Given the description of an element on the screen output the (x, y) to click on. 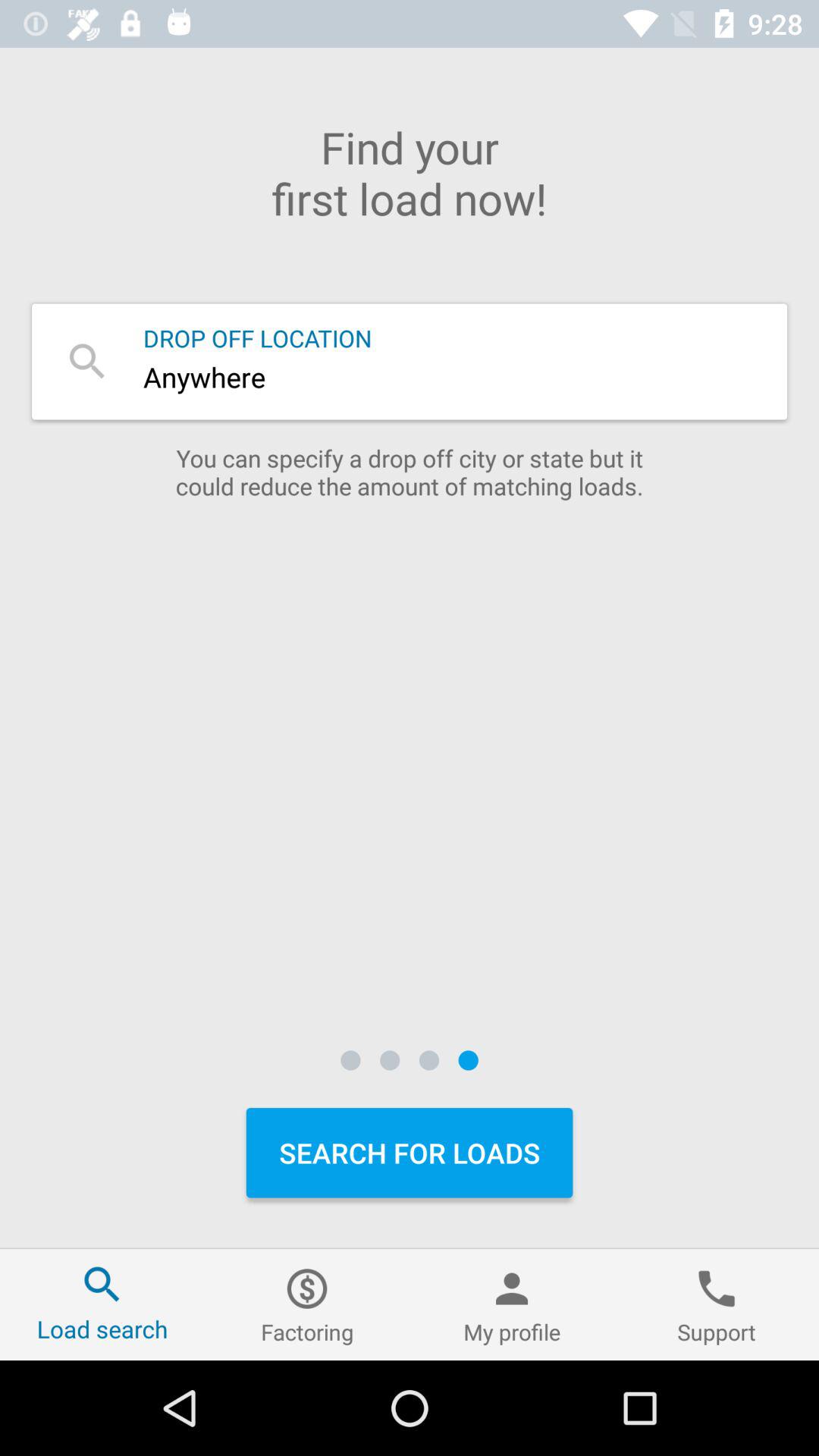
click the last button at bottom right corner of the page (716, 1304)
click on search icon (87, 361)
select the text search at the middle of the page (409, 361)
